Given the description of an element on the screen output the (x, y) to click on. 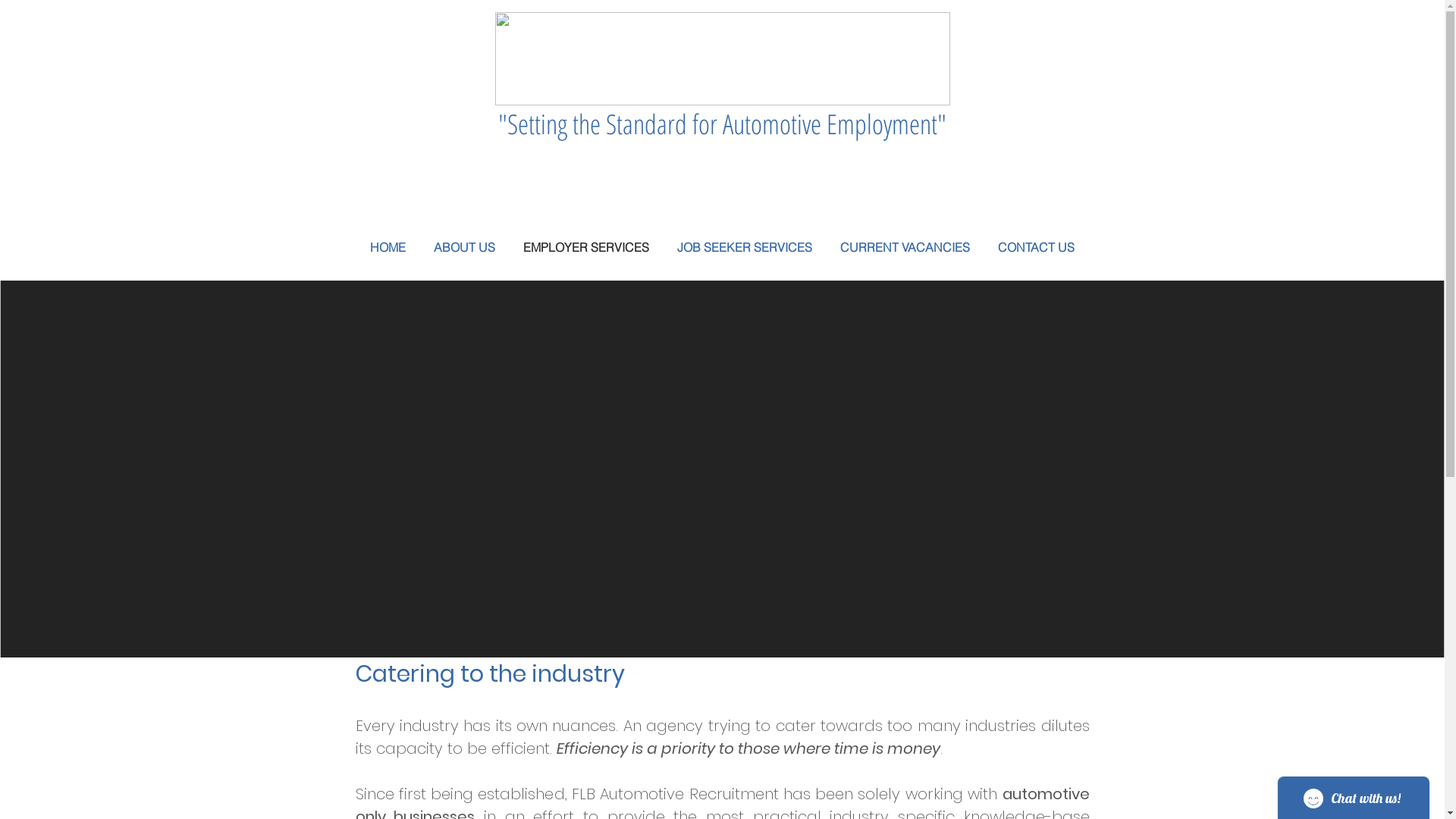
HOME Element type: text (386, 247)
JOB SEEKER SERVICES Element type: text (743, 247)
TWIPLA (Visitor Analytics) Element type: hover (264, 182)
CURRENT VACANCIES Element type: text (905, 247)
CONTACT US Element type: text (1036, 247)
ABOUT US Element type: text (464, 247)
EMPLOYER SERVICES Element type: text (586, 247)
